Given the description of an element on the screen output the (x, y) to click on. 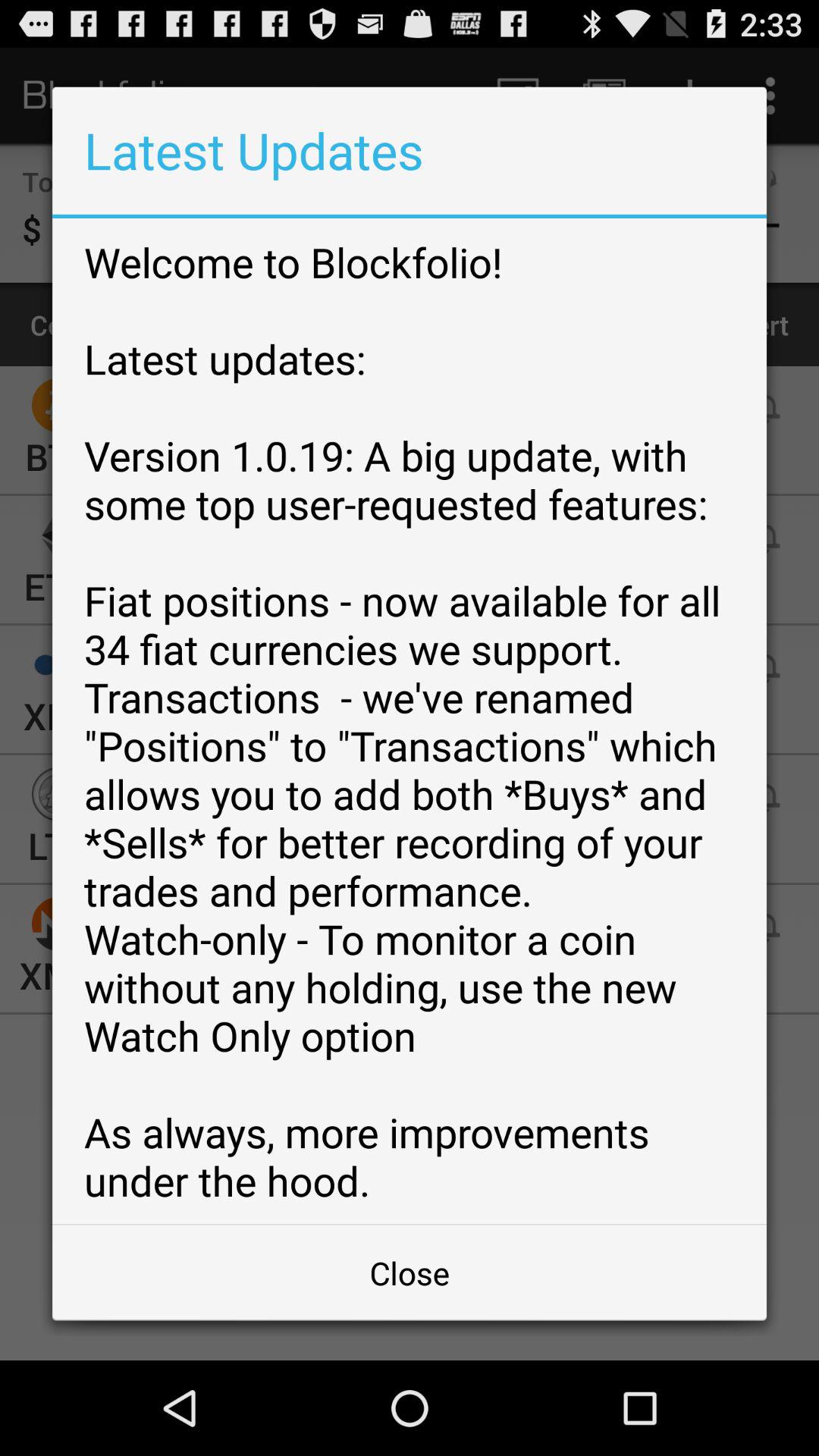
click the close icon (409, 1272)
